Given the description of an element on the screen output the (x, y) to click on. 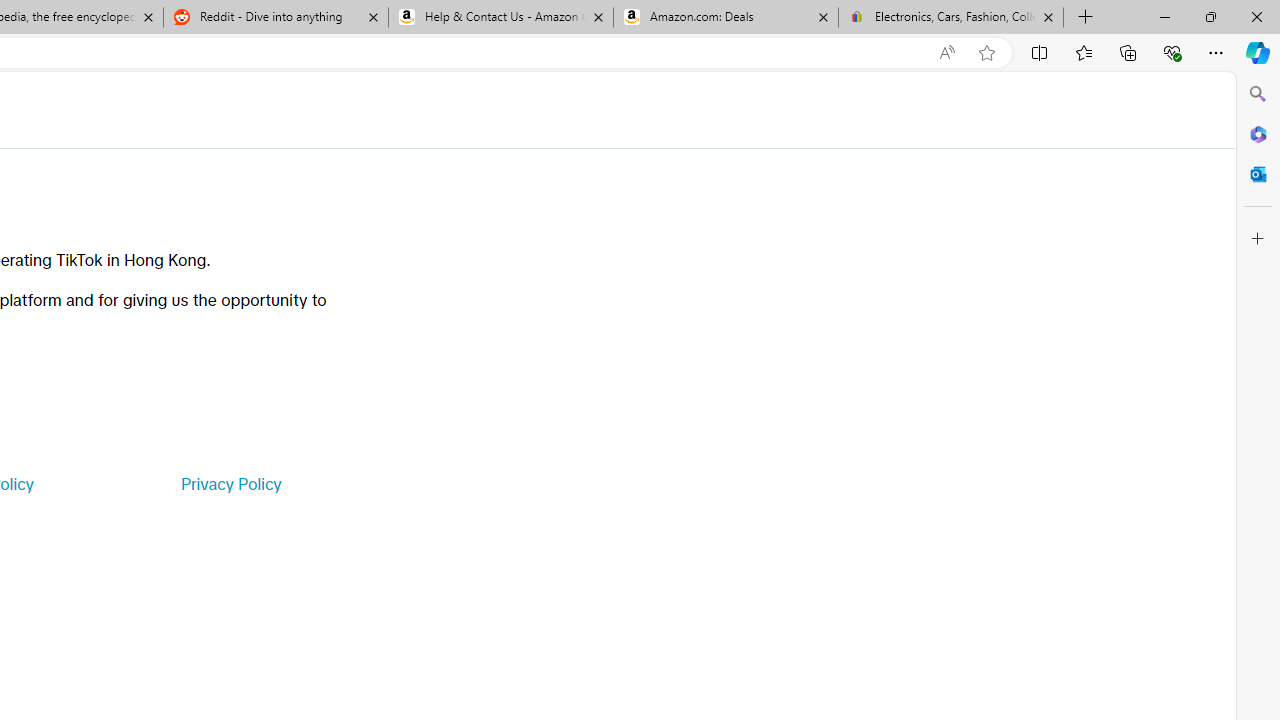
Privacy Policy (230, 484)
Amazon.com: Deals (726, 17)
Reddit - Dive into anything (275, 17)
